Given the description of an element on the screen output the (x, y) to click on. 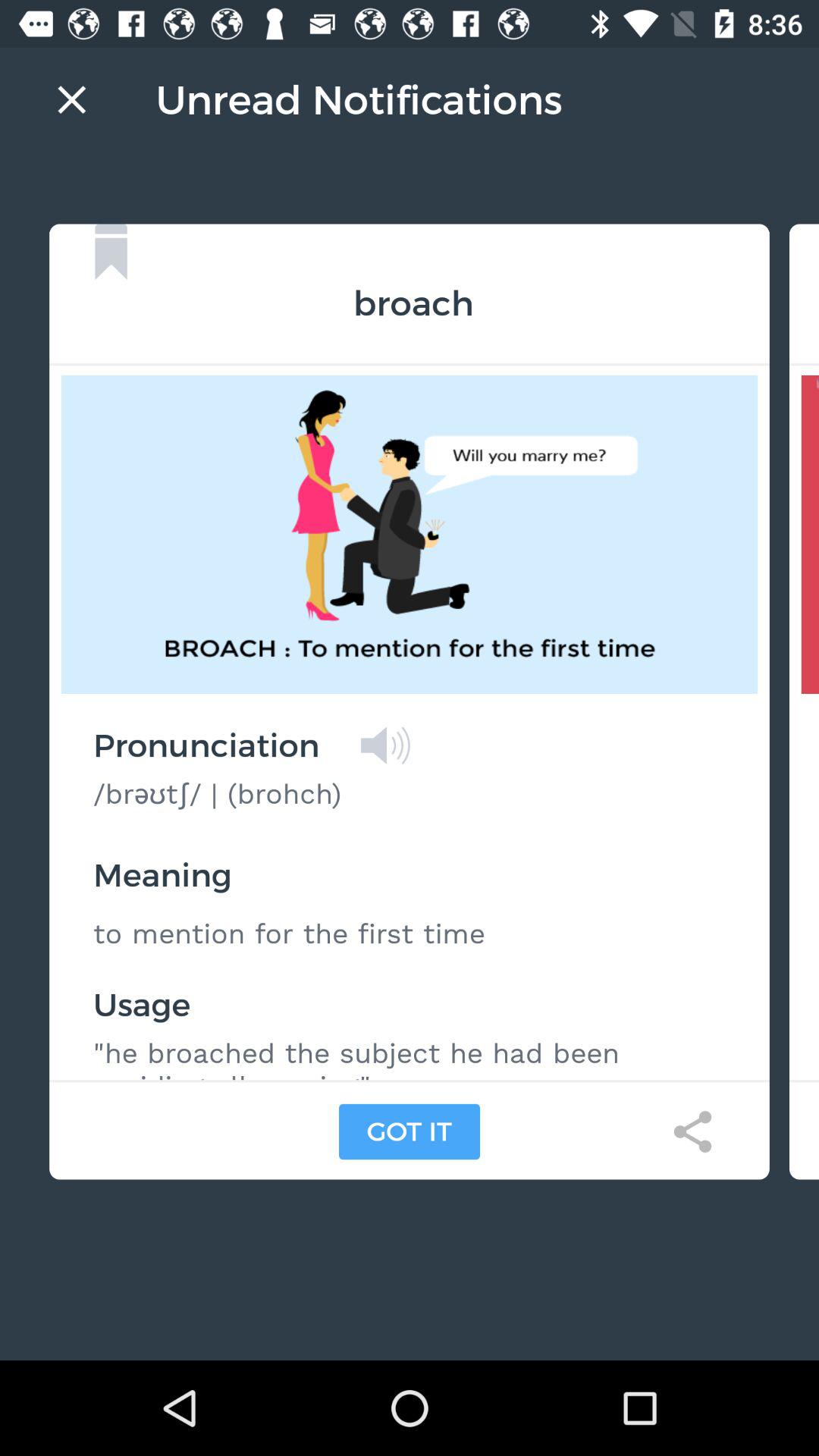
listen to pronunciation (385, 745)
